Given the description of an element on the screen output the (x, y) to click on. 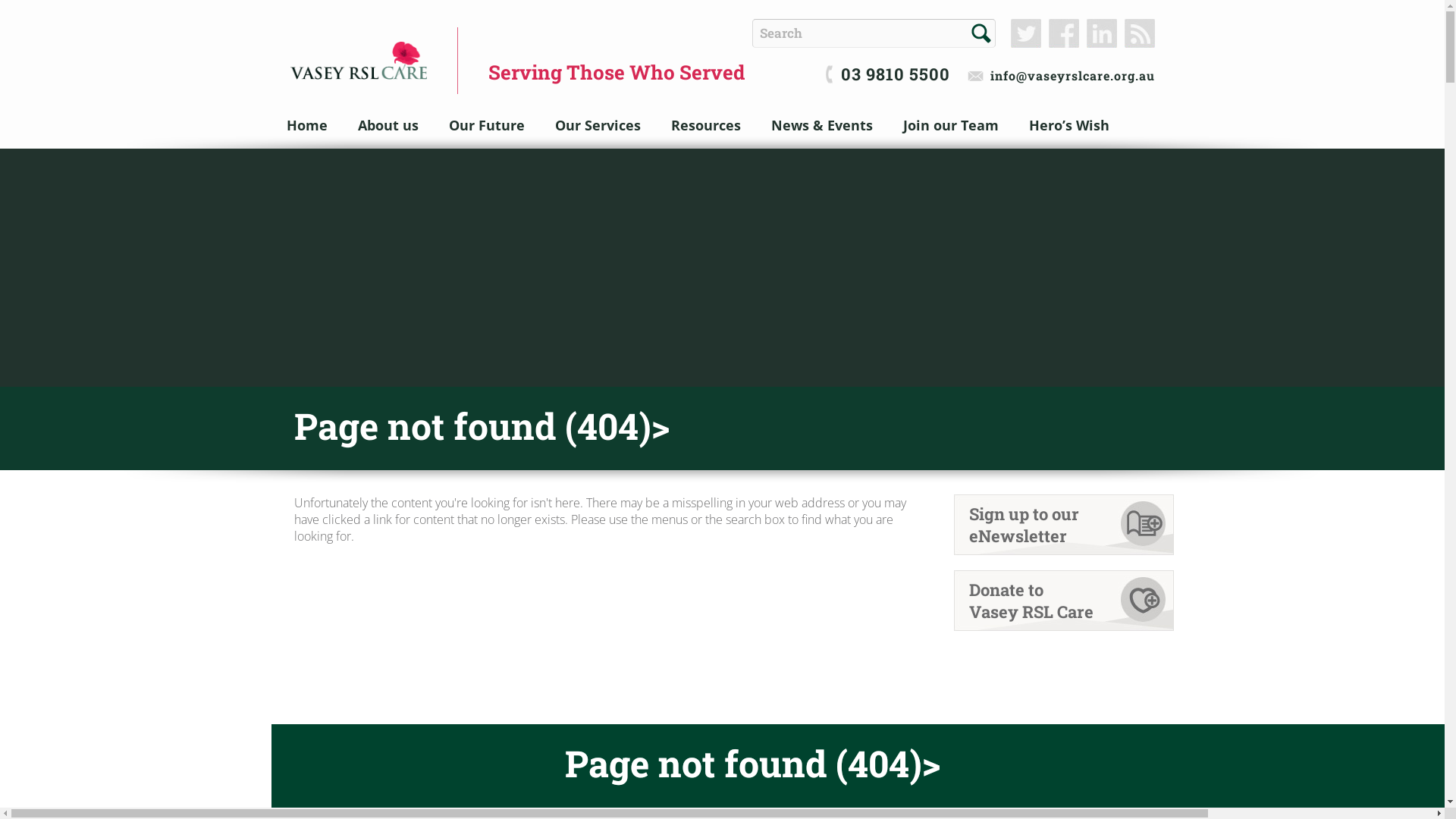
Home Element type: text (306, 125)
Join our Team Element type: text (949, 125)
GO Element type: text (980, 32)
Resources Element type: text (705, 125)
Vasey RSL Care Element type: text (357, 60)
info@vaseyrslcare.org.au Element type: text (1060, 75)
Facebook Element type: text (1063, 32)
Sign up to our
eNewsletter Element type: text (1063, 524)
Twitter Element type: text (1025, 32)
Our Future Element type: text (486, 125)
News & Events Element type: text (821, 125)
Donate to
Vasey RSL Care Element type: text (1063, 600)
About us Element type: text (387, 125)
Search Element type: hover (980, 32)
Subscribe to our RSS Feed Element type: text (1138, 32)
LinkedIn Element type: text (1100, 32)
Our Services Element type: text (597, 125)
